Given the description of an element on the screen output the (x, y) to click on. 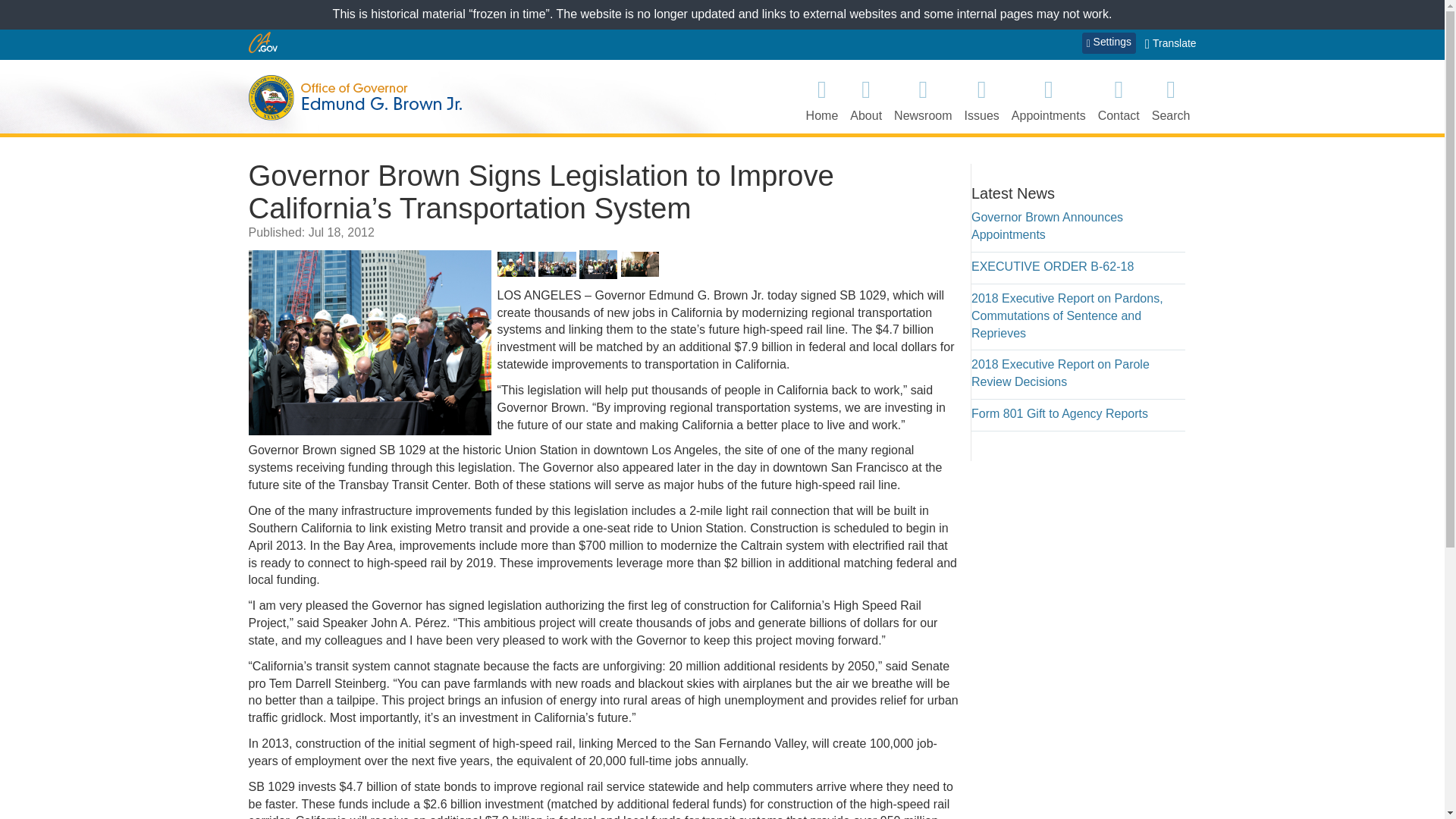
Settings (1108, 43)
CA.gov (263, 43)
Governor Brown Announces Appointments (1046, 225)
Appointments (1048, 98)
Translate (1170, 44)
